Given the description of an element on the screen output the (x, y) to click on. 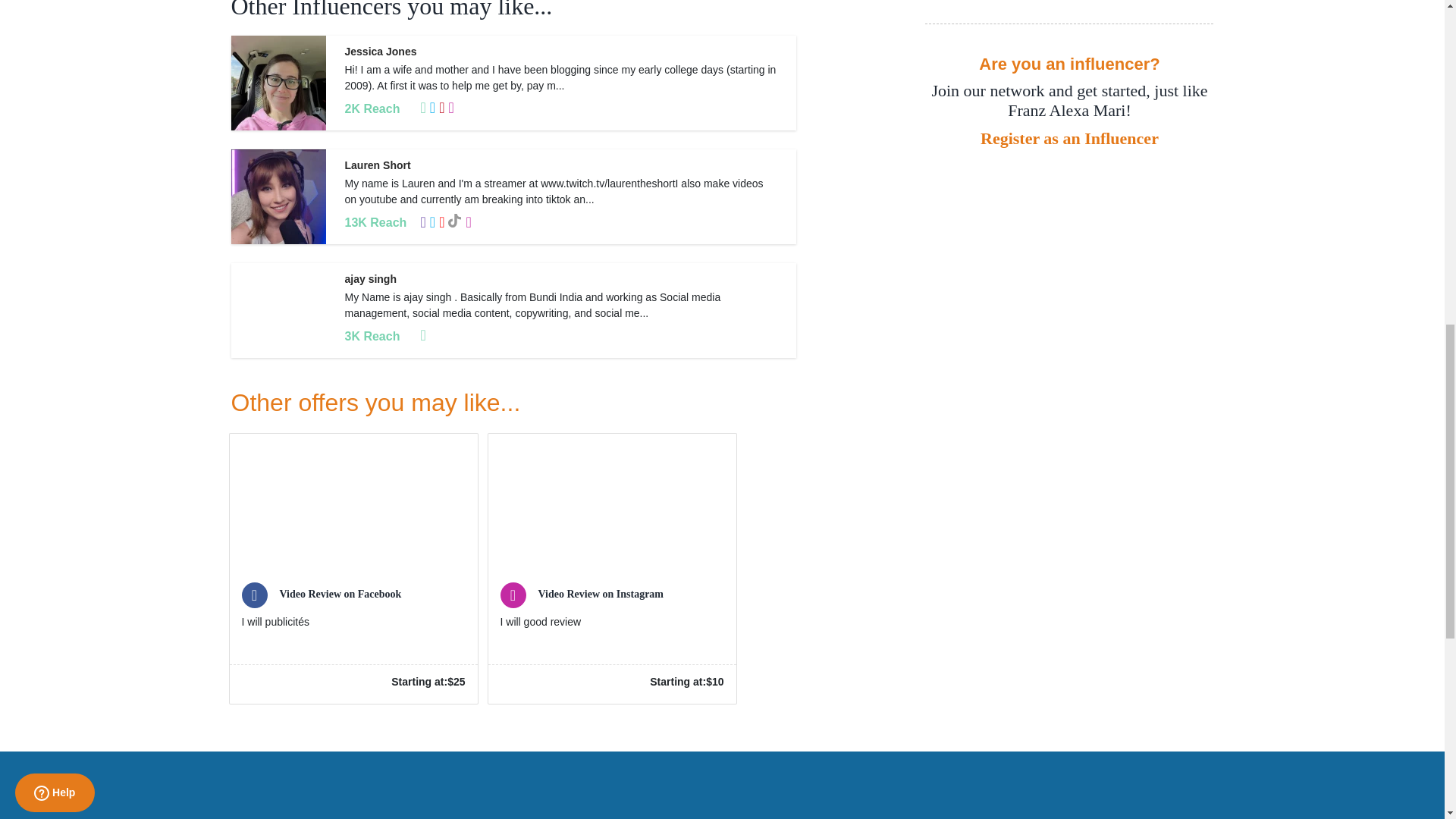
Register as an Influencer (1068, 138)
Jessica Jones (379, 51)
Lauren Short (376, 164)
ajay singh (369, 278)
